Given the description of an element on the screen output the (x, y) to click on. 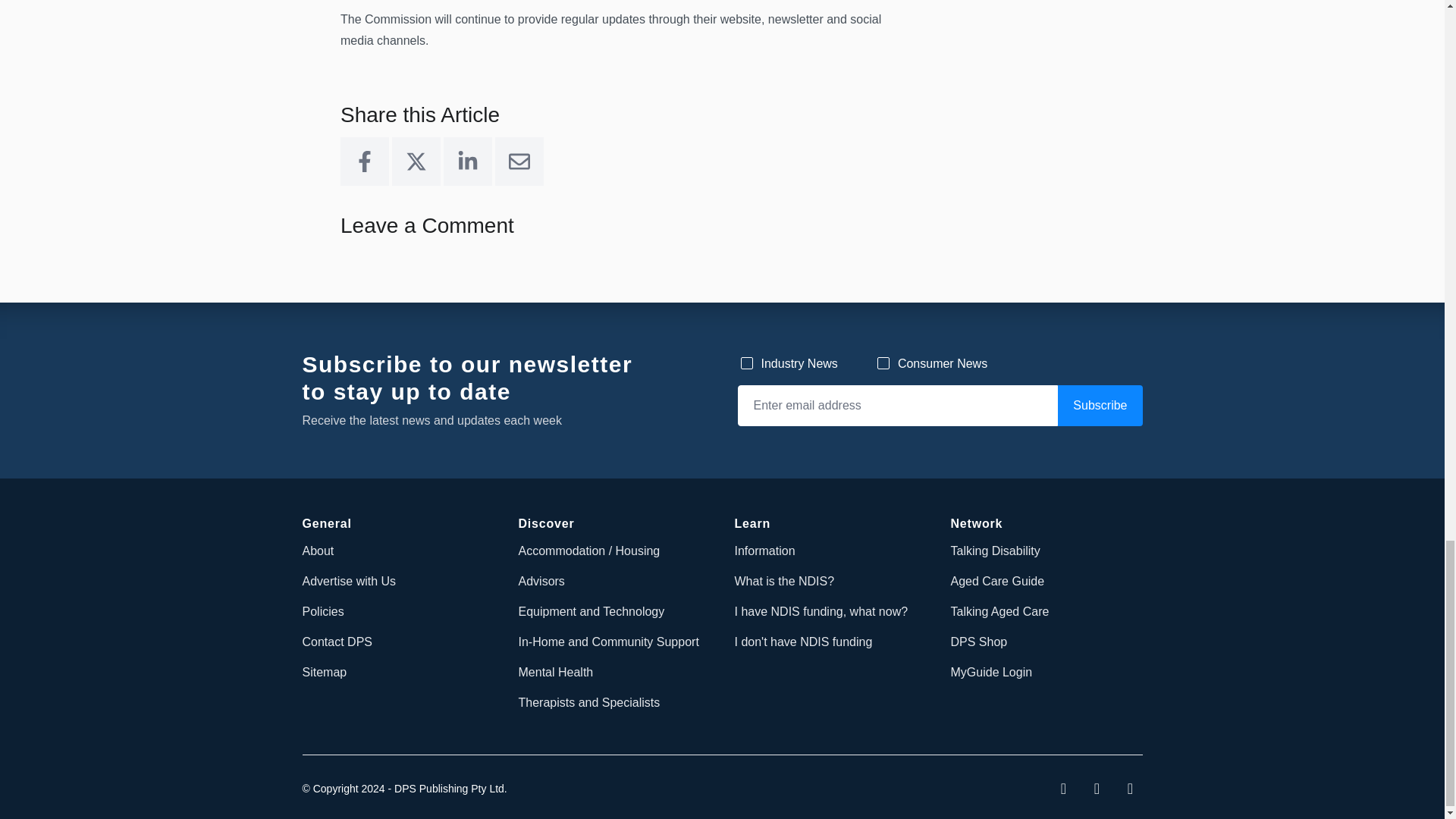
X (416, 161)
Facebook (364, 161)
LinkedIn (468, 161)
Email (519, 161)
